Given the description of an element on the screen output the (x, y) to click on. 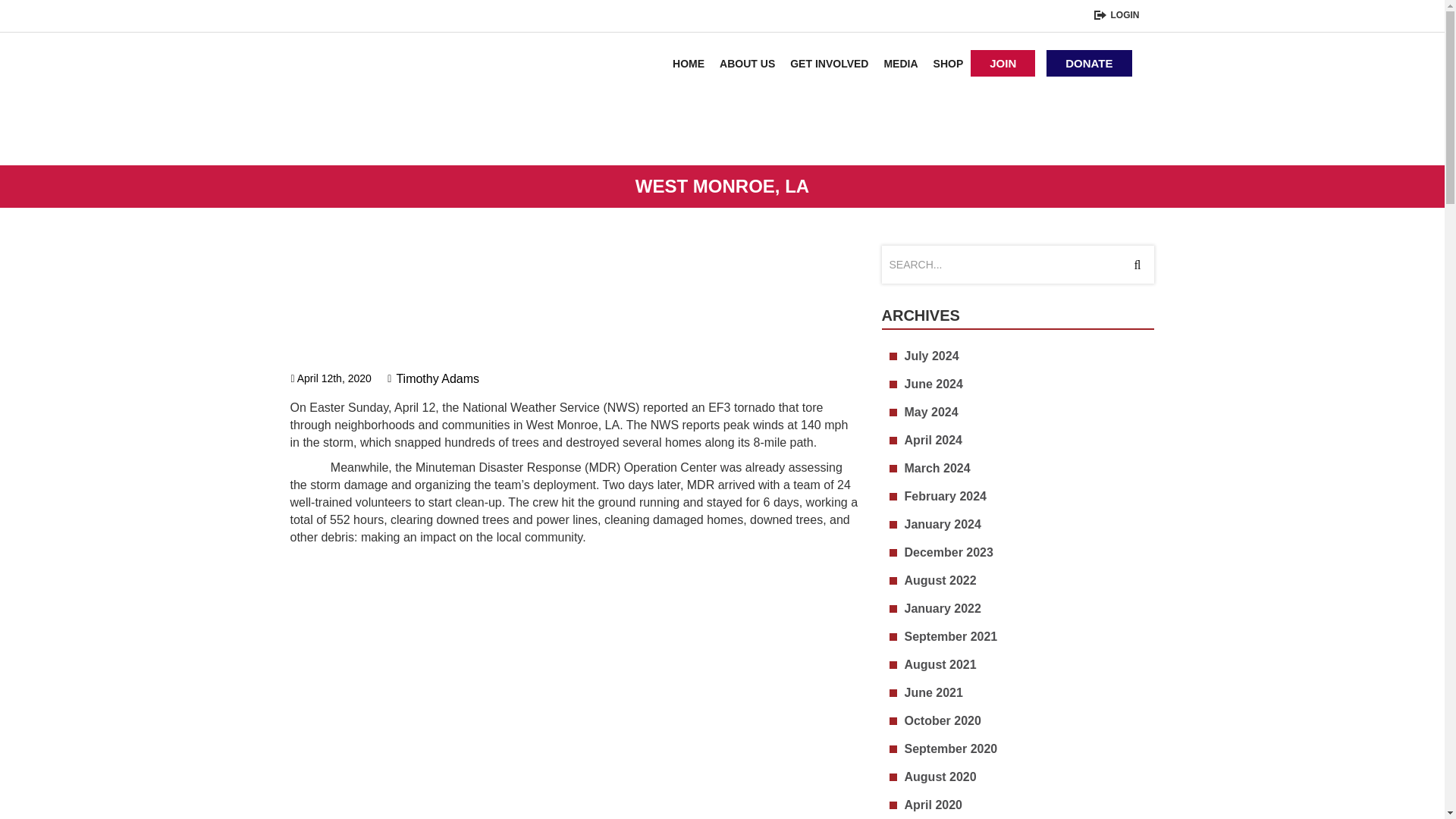
January 2024 (1029, 524)
join (1003, 62)
LOGIN (1115, 17)
Home (691, 62)
February 2024 (1029, 496)
About Us (747, 62)
April 2024 (1029, 440)
SHOP (948, 62)
JOIN (1003, 62)
GET INVOLVED (829, 62)
MEDIA (900, 62)
Get Involved (829, 62)
September 2021 (1029, 636)
DONATE (1088, 62)
June 2021 (1029, 692)
